Given the description of an element on the screen output the (x, y) to click on. 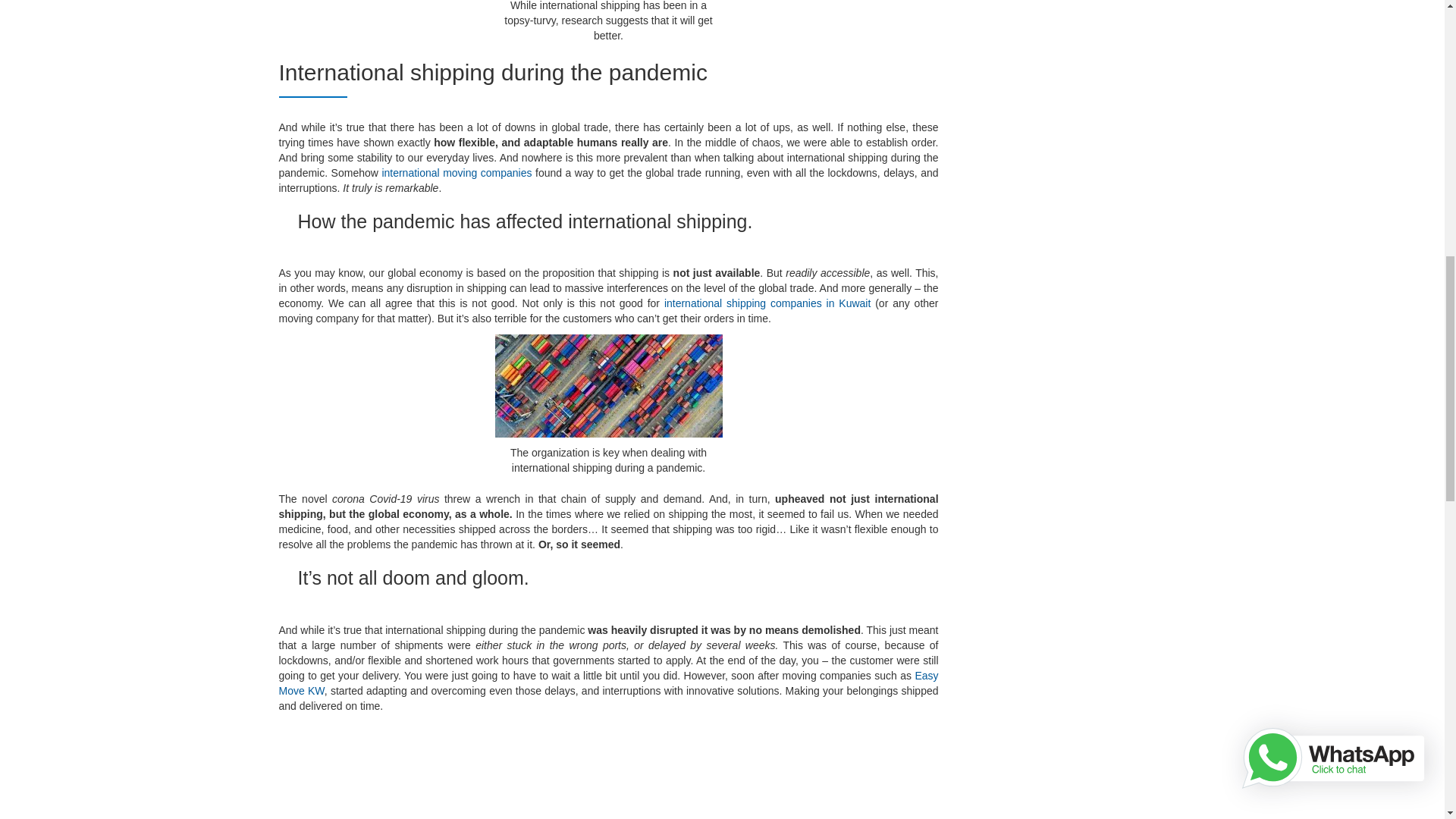
Easy Move KW (609, 682)
international moving companies (456, 173)
international shipping companies in Kuwait (766, 303)
